Given the description of an element on the screen output the (x, y) to click on. 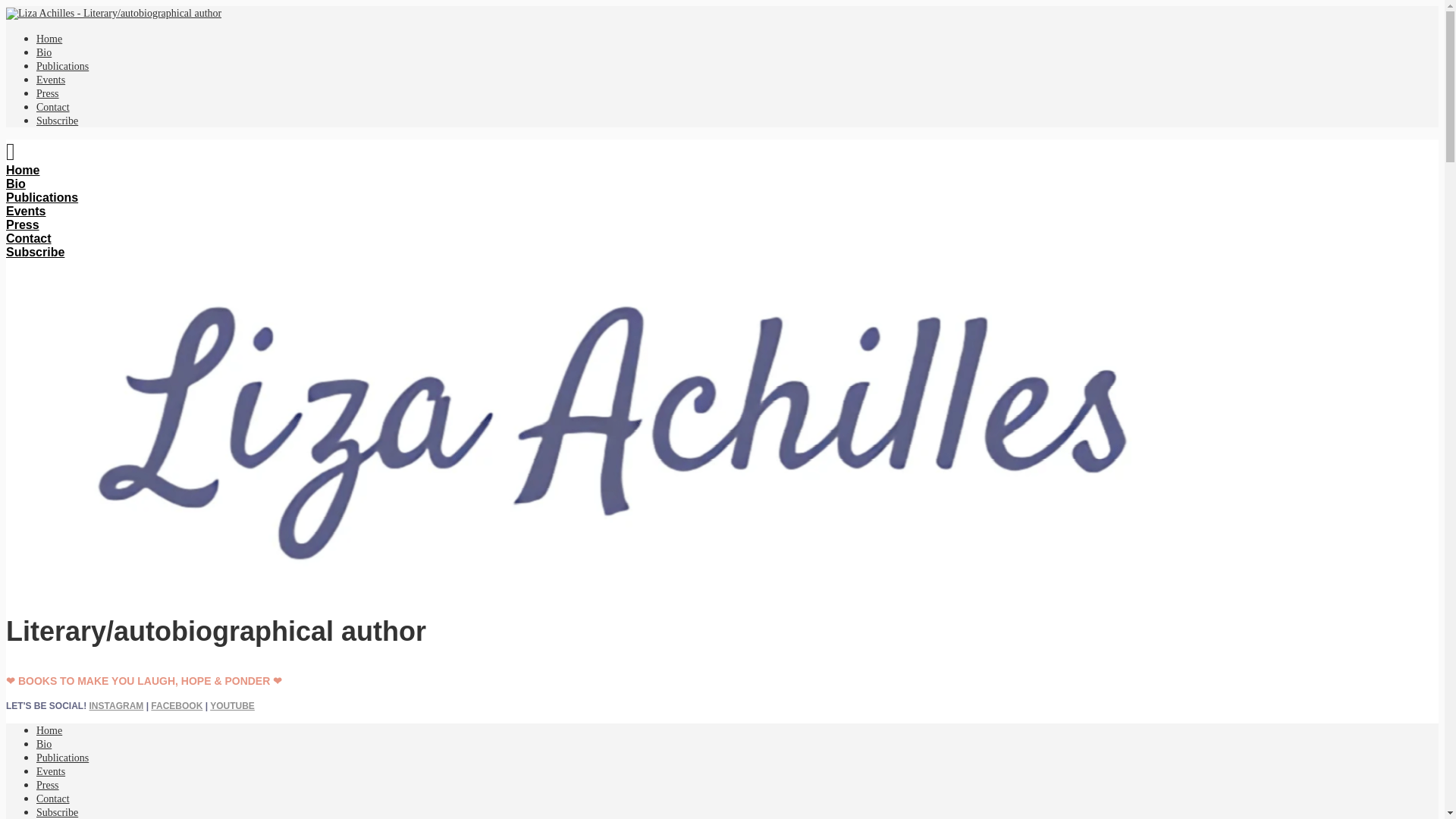
FACEBOOK (176, 706)
Home (49, 730)
Contact (52, 107)
YOUTUBE (231, 706)
Press (47, 93)
Press (47, 785)
Bio (43, 744)
Home (49, 39)
Home (22, 169)
INSTAGRAM (116, 706)
Events (50, 79)
Subscribe (57, 120)
Publications (62, 66)
Bio (43, 52)
Bio (15, 183)
